Given the description of an element on the screen output the (x, y) to click on. 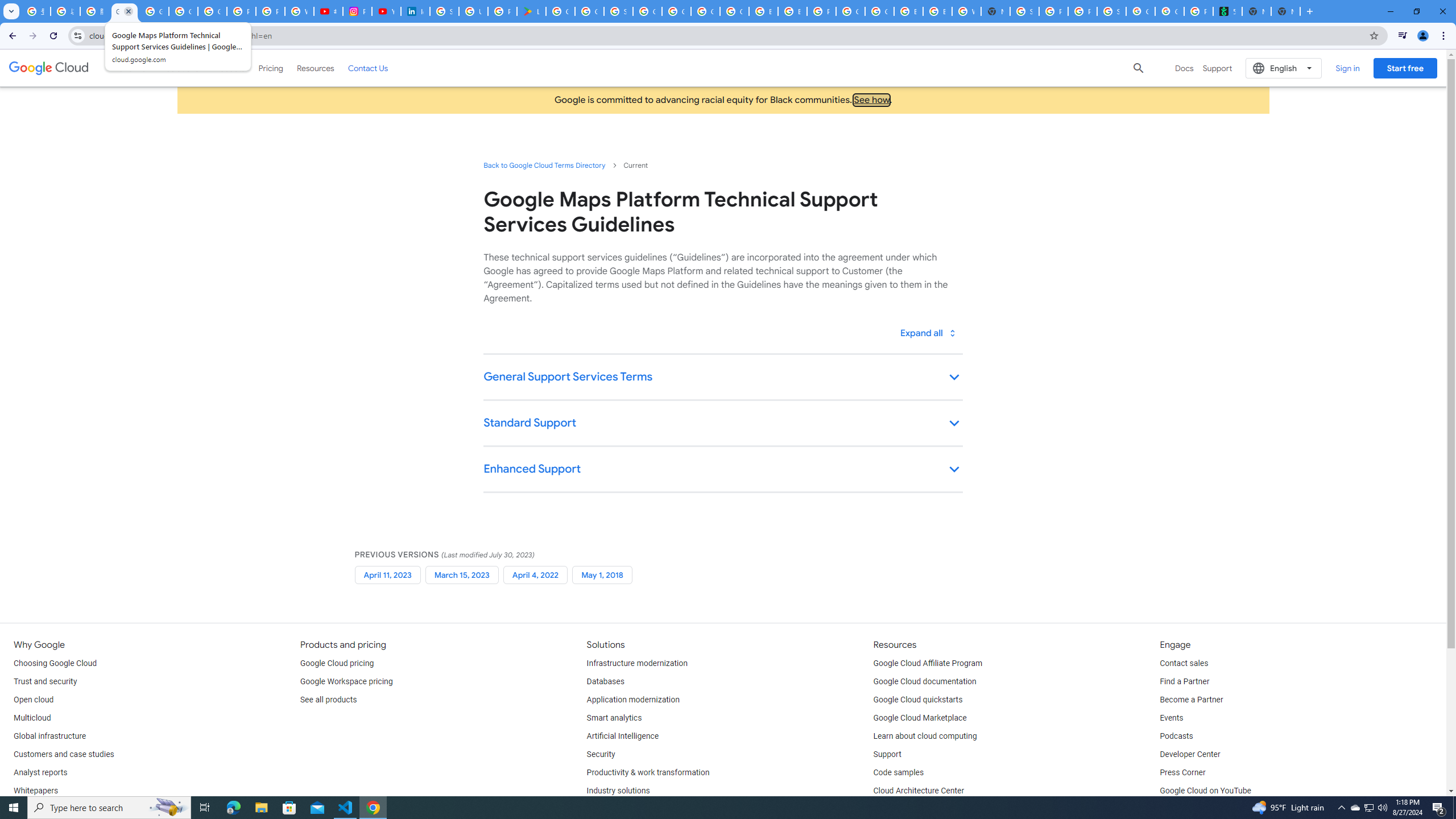
Browse Chrome as a guest - Computer - Google Chrome Help (936, 11)
Developer Center (1189, 754)
Support (887, 754)
Security (600, 754)
Sign in - Google Accounts (1023, 11)
New Tab (994, 11)
Privacy Help Center - Policies Help (240, 11)
Google Cloud documentation (924, 682)
Learn about cloud computing (924, 736)
Artificial Intelligence (622, 736)
Google Cloud Platform (879, 11)
Control your music, videos, and more (1402, 35)
